Given the description of an element on the screen output the (x, y) to click on. 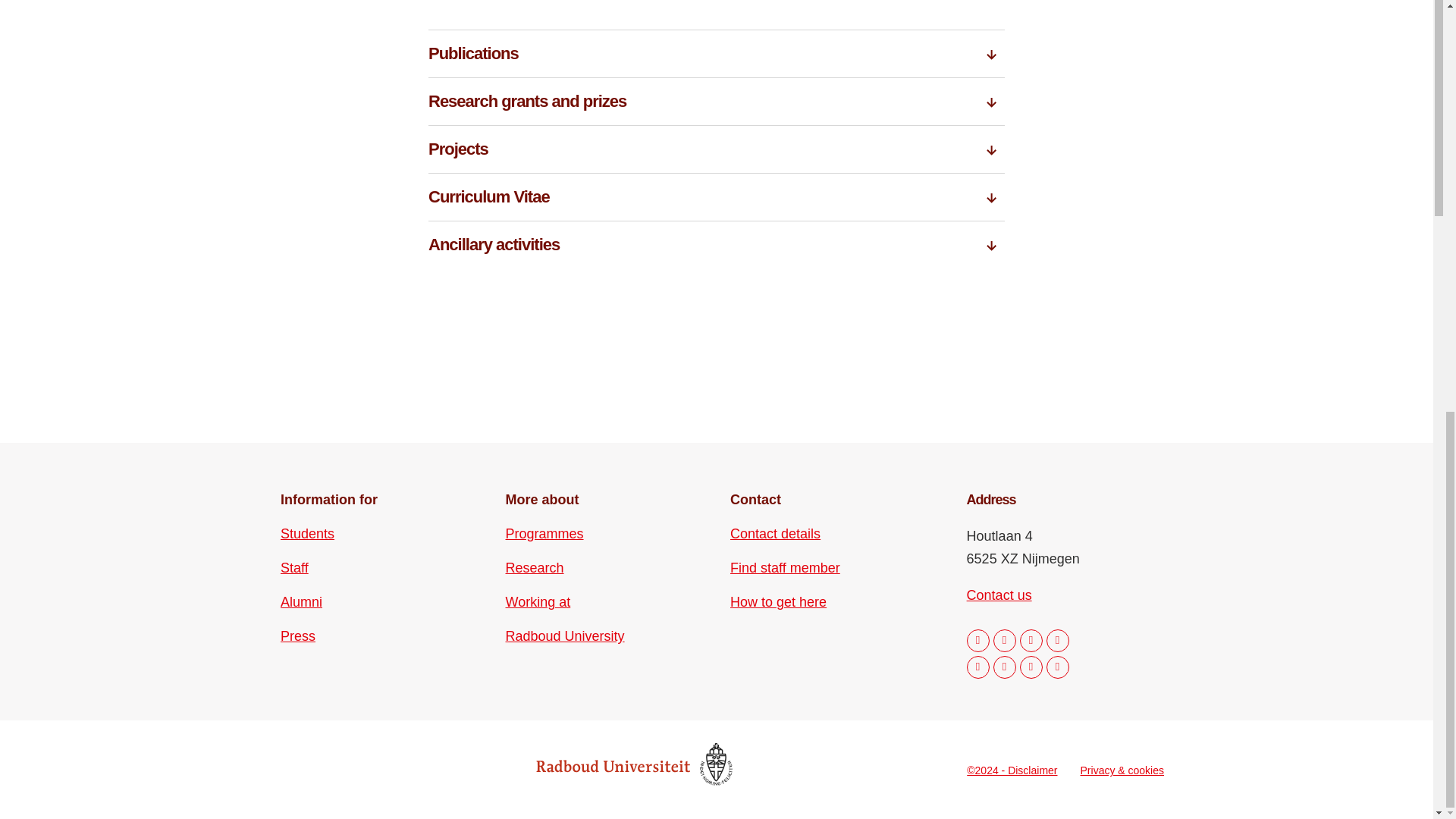
Facebook (978, 640)
Instagram (1004, 640)
YouTube (1004, 667)
X (978, 667)
LinkedIn (1031, 640)
Information about our campus and how to get here (778, 601)
Mastodon (1057, 640)
SnapChat (1057, 667)
TikTok (1031, 667)
